Given the description of an element on the screen output the (x, y) to click on. 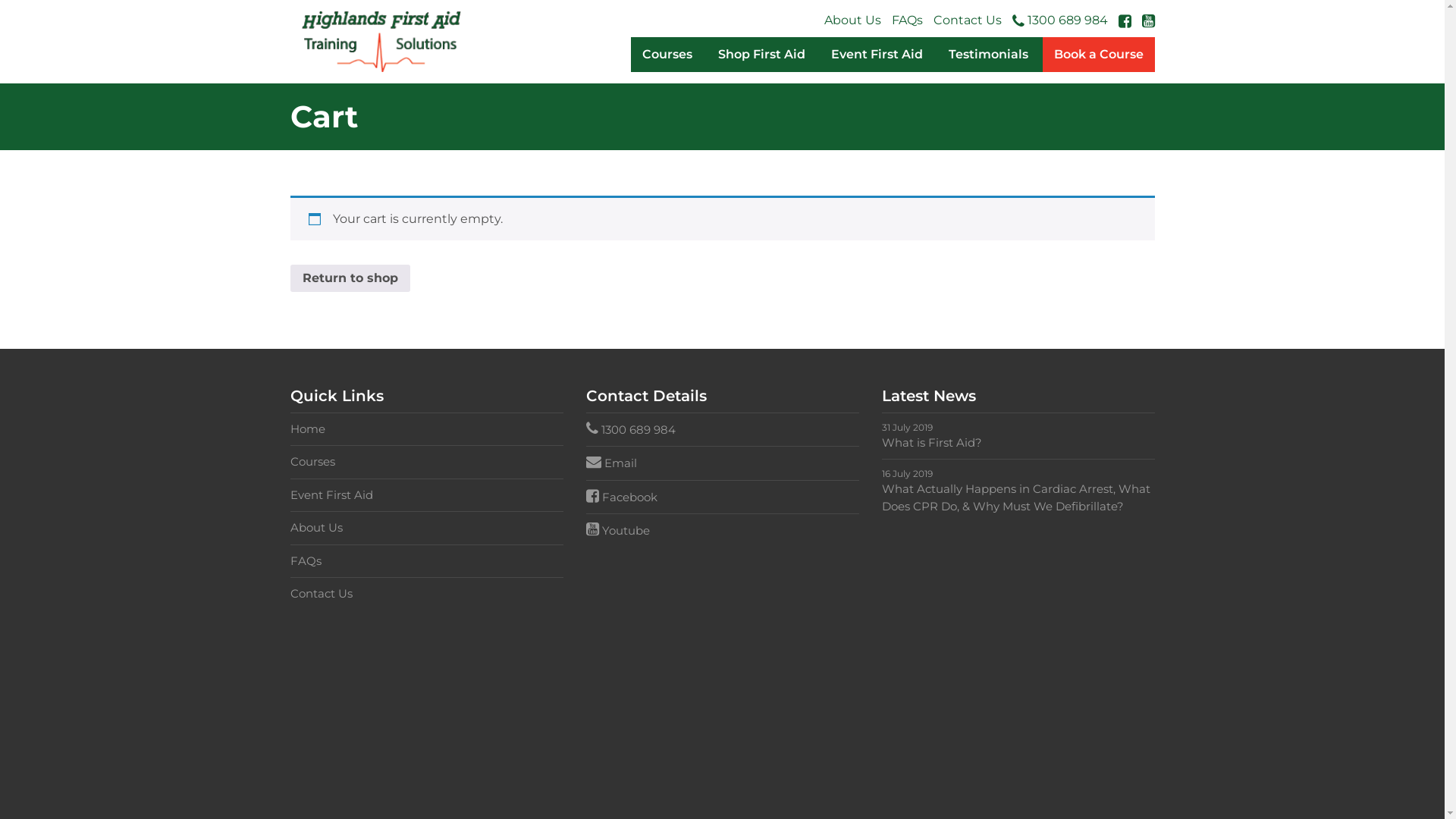
About Us Element type: text (851, 20)
Shop First Aid Element type: text (761, 54)
Facebook Element type: text (721, 497)
Courses Element type: text (425, 461)
FAQs Element type: text (906, 20)
Event First Aid Element type: text (876, 54)
FAQs Element type: text (425, 561)
1300 689 984 Element type: text (721, 429)
Testimonials Element type: text (988, 54)
About Us Element type: text (425, 527)
Courses Element type: text (666, 54)
Email Element type: text (721, 463)
Contact Us Element type: text (966, 20)
Contact Us Element type: text (425, 593)
1300 689 984 Element type: text (1059, 20)
Home Element type: text (425, 429)
Book a Course Element type: text (1097, 54)
Youtube Element type: text (721, 530)
Event First Aid Element type: text (425, 495)
Return to shop Element type: text (349, 277)
What is First Aid? Element type: text (1017, 442)
